Given the description of an element on the screen output the (x, y) to click on. 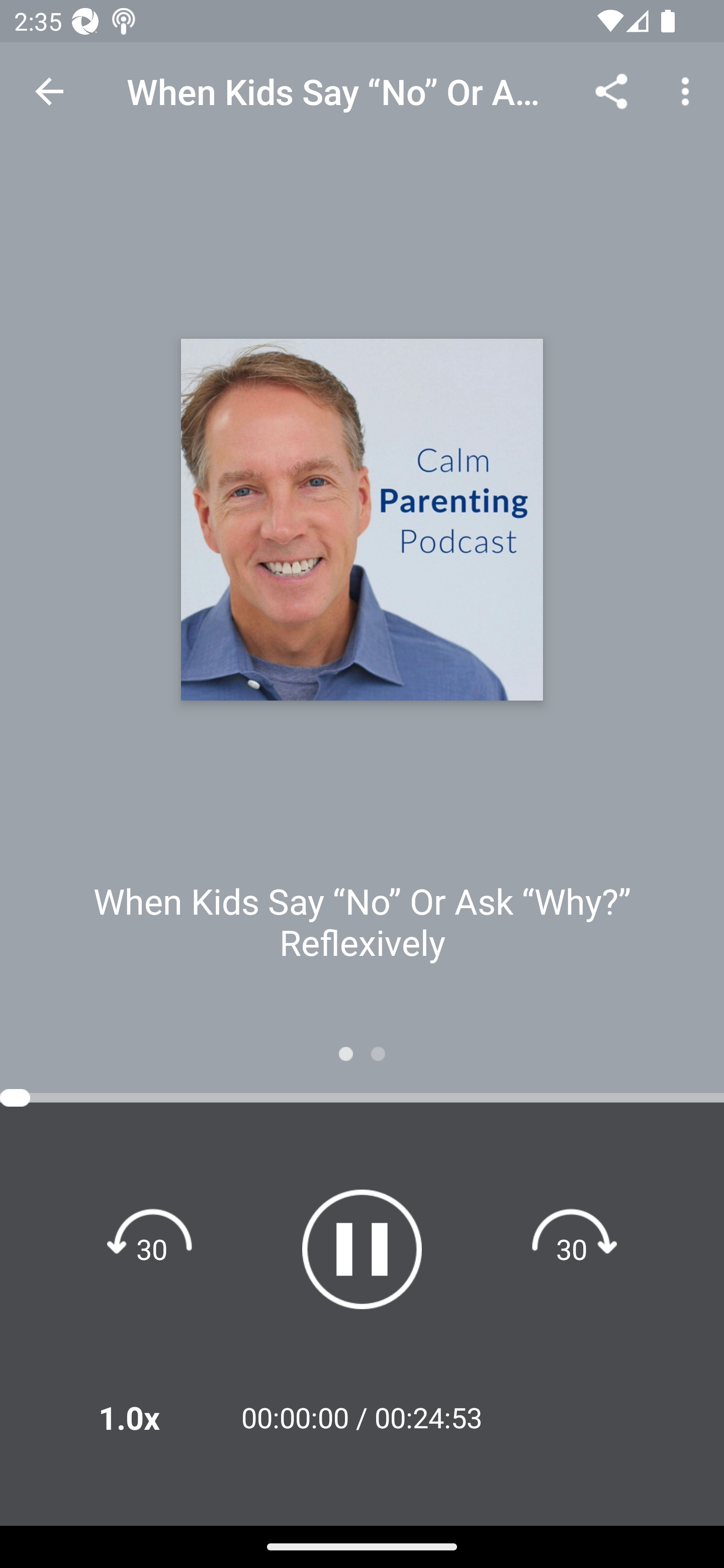
Navigate up (49, 91)
Share... (611, 90)
More options (688, 90)
Pause (361, 1249)
Rewind (151, 1248)
Fast forward (571, 1248)
1.0x Playback Speeds (154, 1417)
00:24:53 (428, 1417)
